Given the description of an element on the screen output the (x, y) to click on. 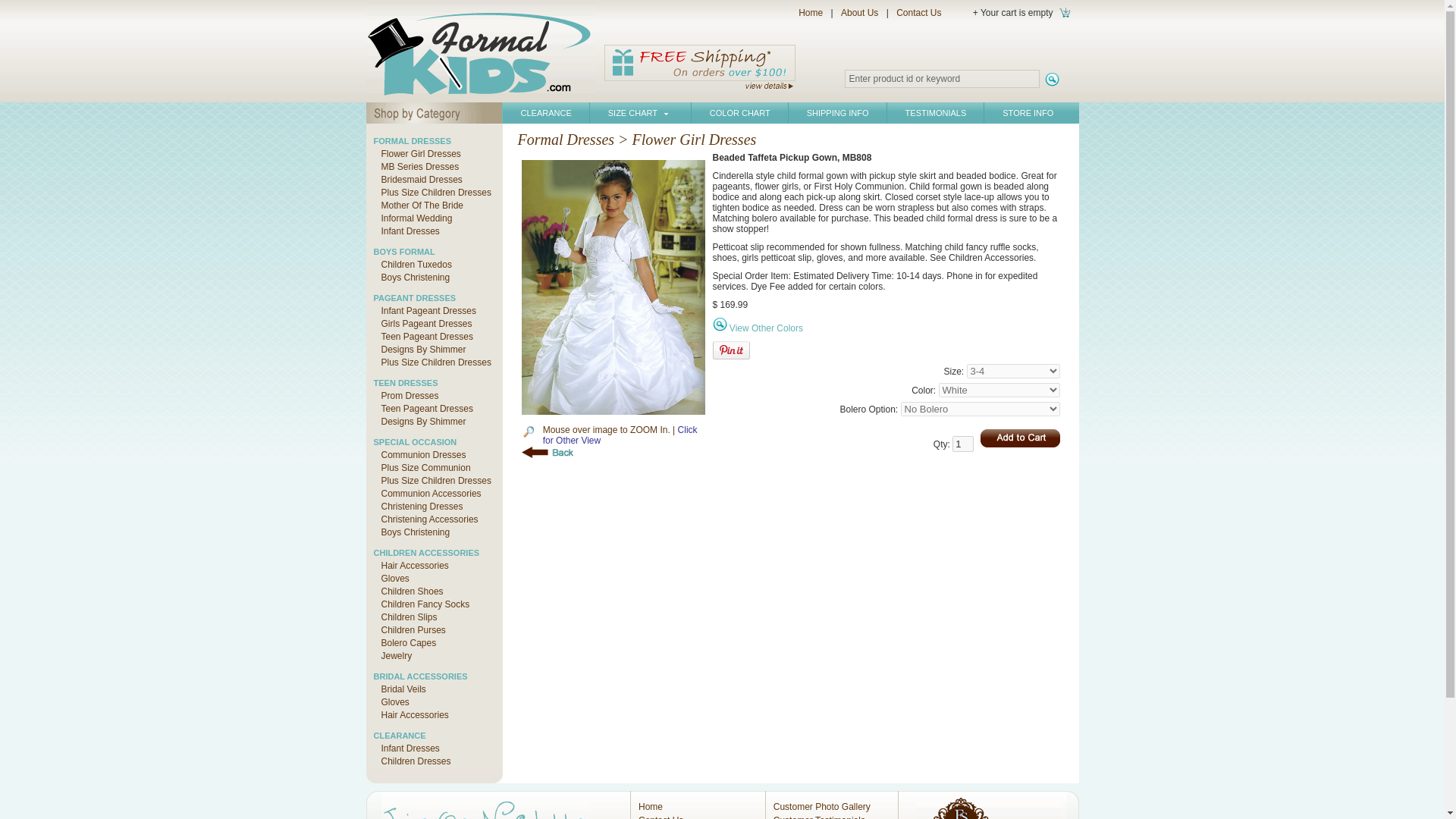
SHIPPING INFO (837, 112)
Add To Cart (1019, 438)
Designs By Shimmer (418, 421)
Pin It (731, 350)
TESTIMONIALS (935, 112)
Designs By Shimmer (418, 348)
Flower Girl Dresses (416, 153)
MB Series Dresses (415, 166)
Shipping Information (700, 68)
FORMAL DRESSES (410, 140)
